Given the description of an element on the screen output the (x, y) to click on. 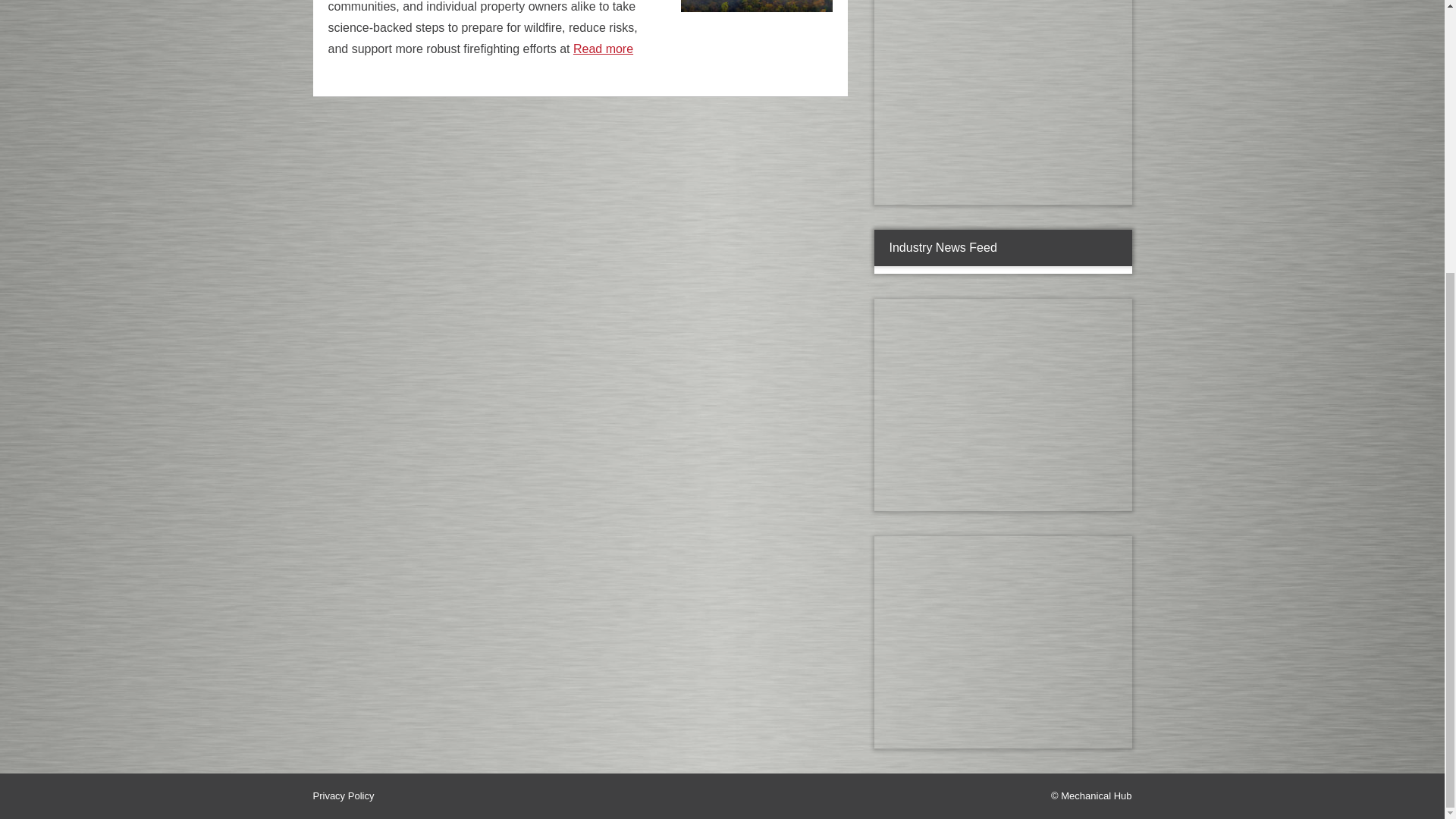
3rd party ad content (1002, 642)
Read more (603, 48)
3rd party ad content (1002, 404)
3rd party ad content (1002, 102)
